Given the description of an element on the screen output the (x, y) to click on. 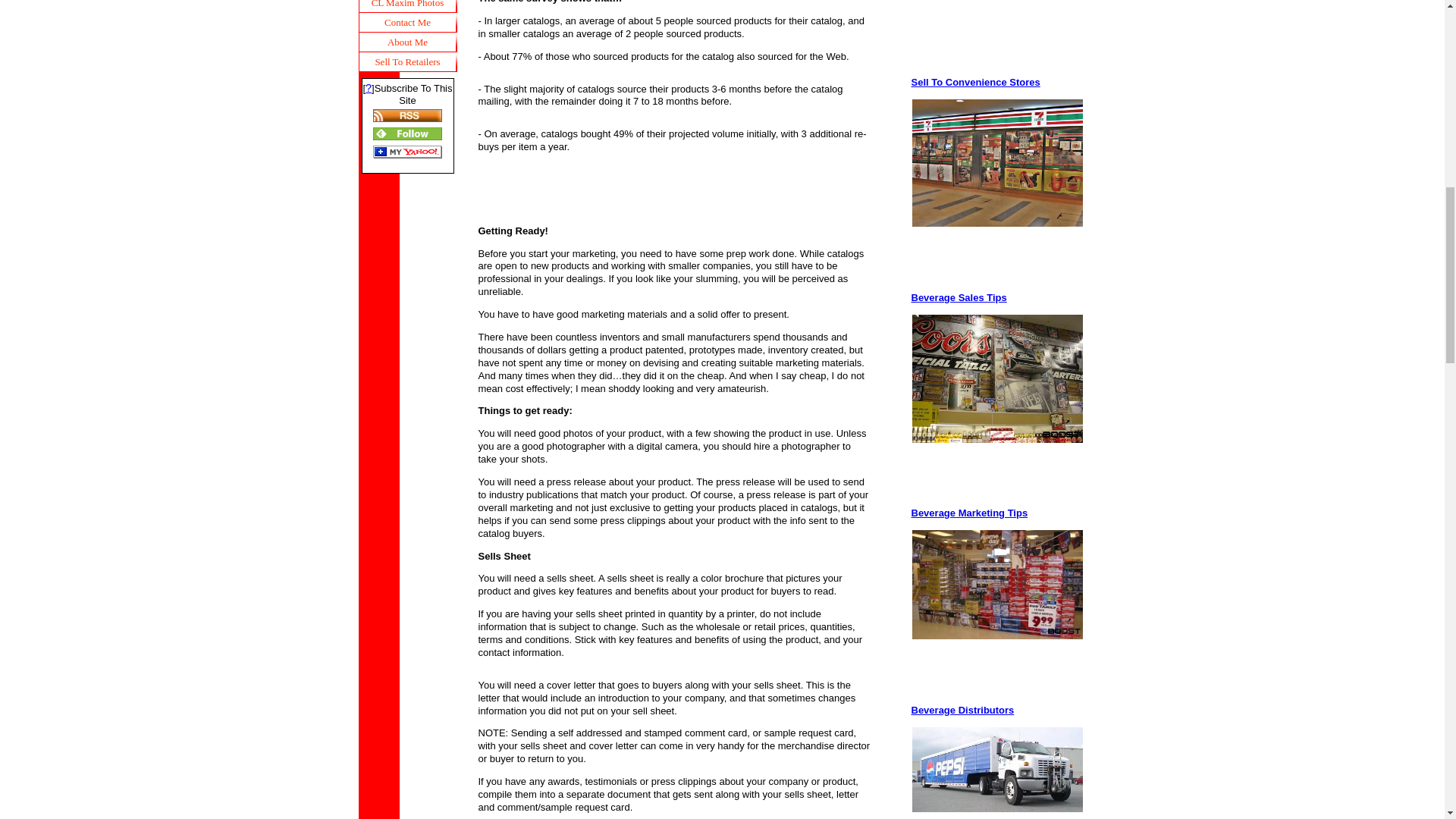
beverage sales tips (996, 378)
7-Eleven C-Store (996, 163)
beverage sales tips (959, 297)
CL Maxim Photos (407, 6)
C-Store (976, 81)
About Me (407, 42)
Contact Me (407, 22)
